Given the description of an element on the screen output the (x, y) to click on. 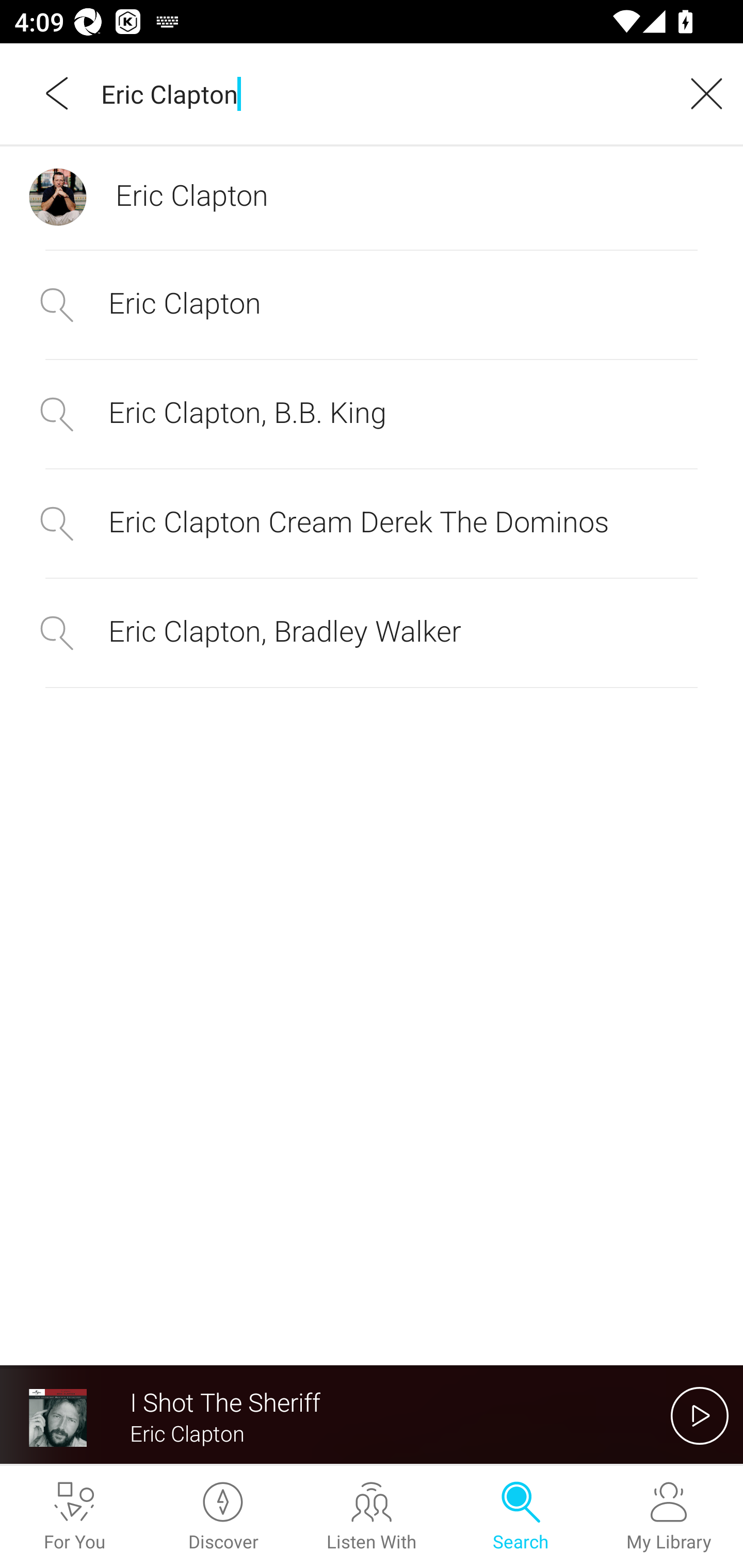
Eric Clapton (378, 92)
Clear query (699, 92)
Back,outside of the list (57, 93)
Search preview item Eric Clapton (371, 196)
Eric Clapton (371, 304)
Eric Clapton, B.B. King (371, 414)
Eric Clapton Cream Derek The Dominos (371, 522)
Eric Clapton, Bradley Walker (371, 632)
開始播放 (699, 1415)
For You (74, 1517)
Discover (222, 1517)
Listen With (371, 1517)
Search (519, 1517)
My Library (668, 1517)
